Given the description of an element on the screen output the (x, y) to click on. 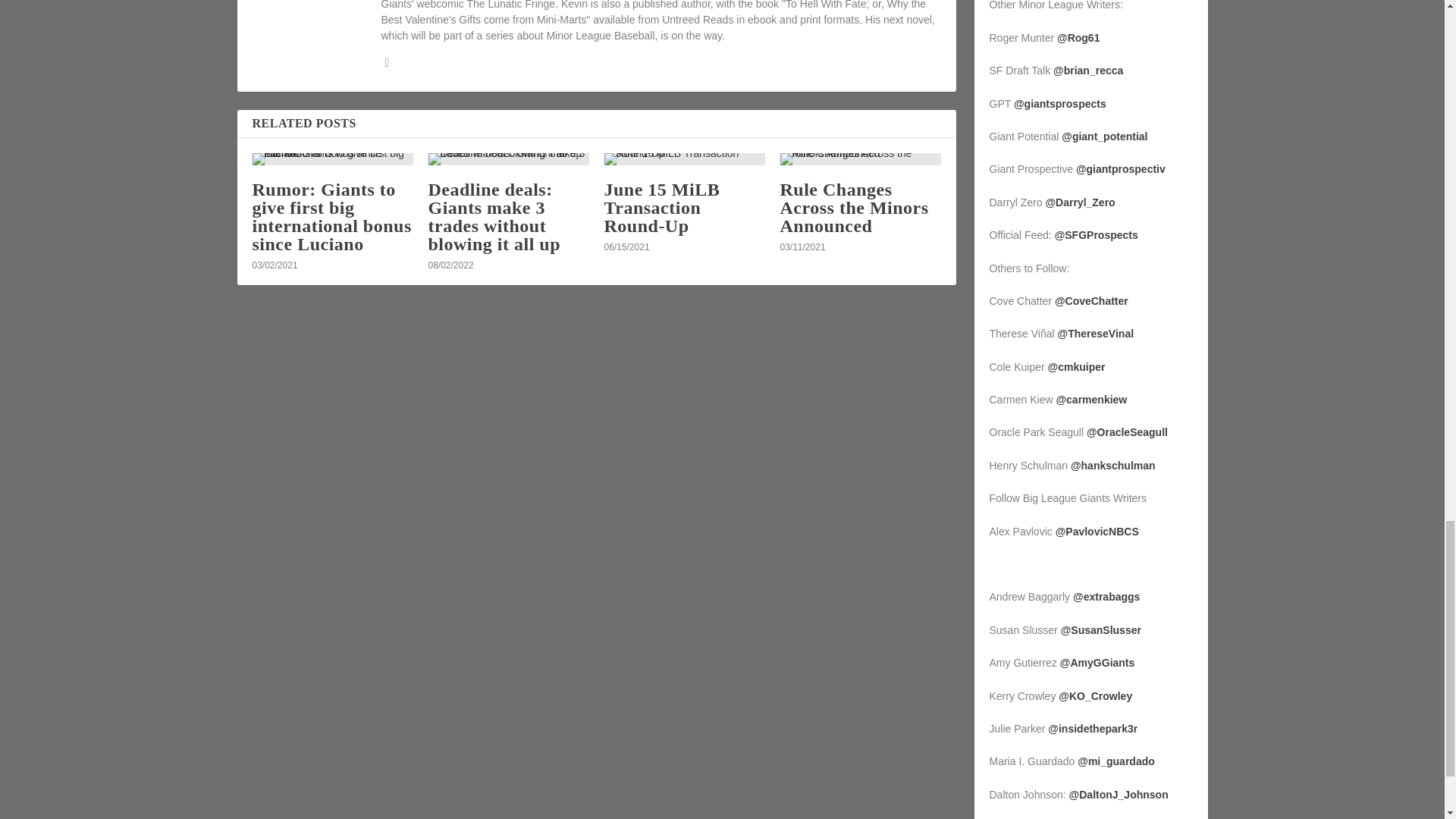
June 15 MiLB Transaction Round-Up (684, 159)
Rule Changes Across the Minors Announced (859, 159)
June 15 MiLB Transaction Round-Up (661, 207)
Rule Changes Across the Minors Announced (853, 207)
